Given the description of an element on the screen output the (x, y) to click on. 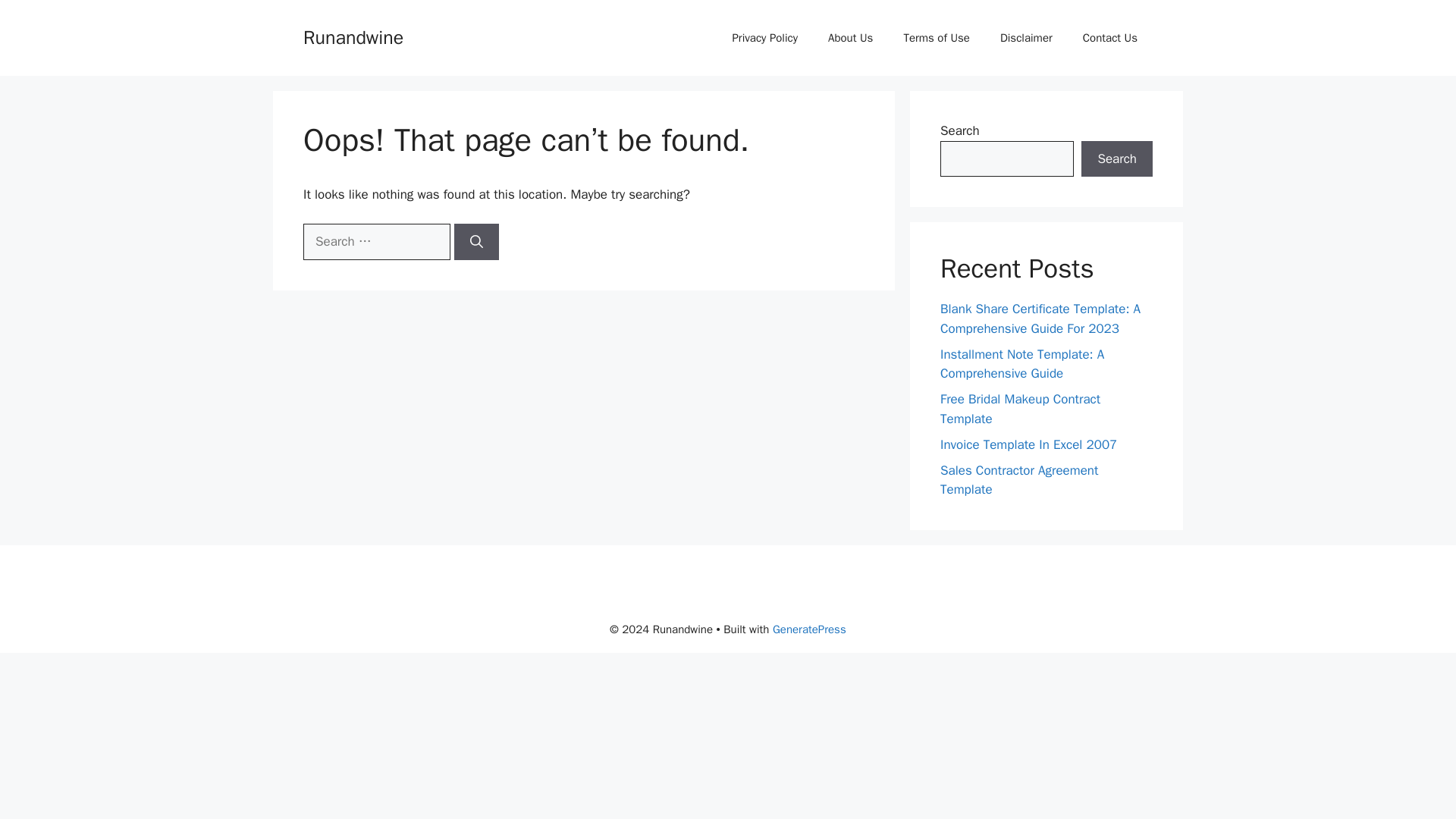
Privacy Policy (764, 37)
Invoice Template In Excel 2007 (1028, 444)
Contact Us (1110, 37)
Runandwine (352, 37)
Search for: (375, 241)
Free Bridal Makeup Contract Template (1020, 408)
GeneratePress (809, 628)
Terms of Use (936, 37)
Search (1117, 158)
Installment Note Template: A Comprehensive Guide (1021, 363)
About Us (850, 37)
Sales Contractor Agreement Template (1018, 479)
Disclaimer (1026, 37)
